Given the description of an element on the screen output the (x, y) to click on. 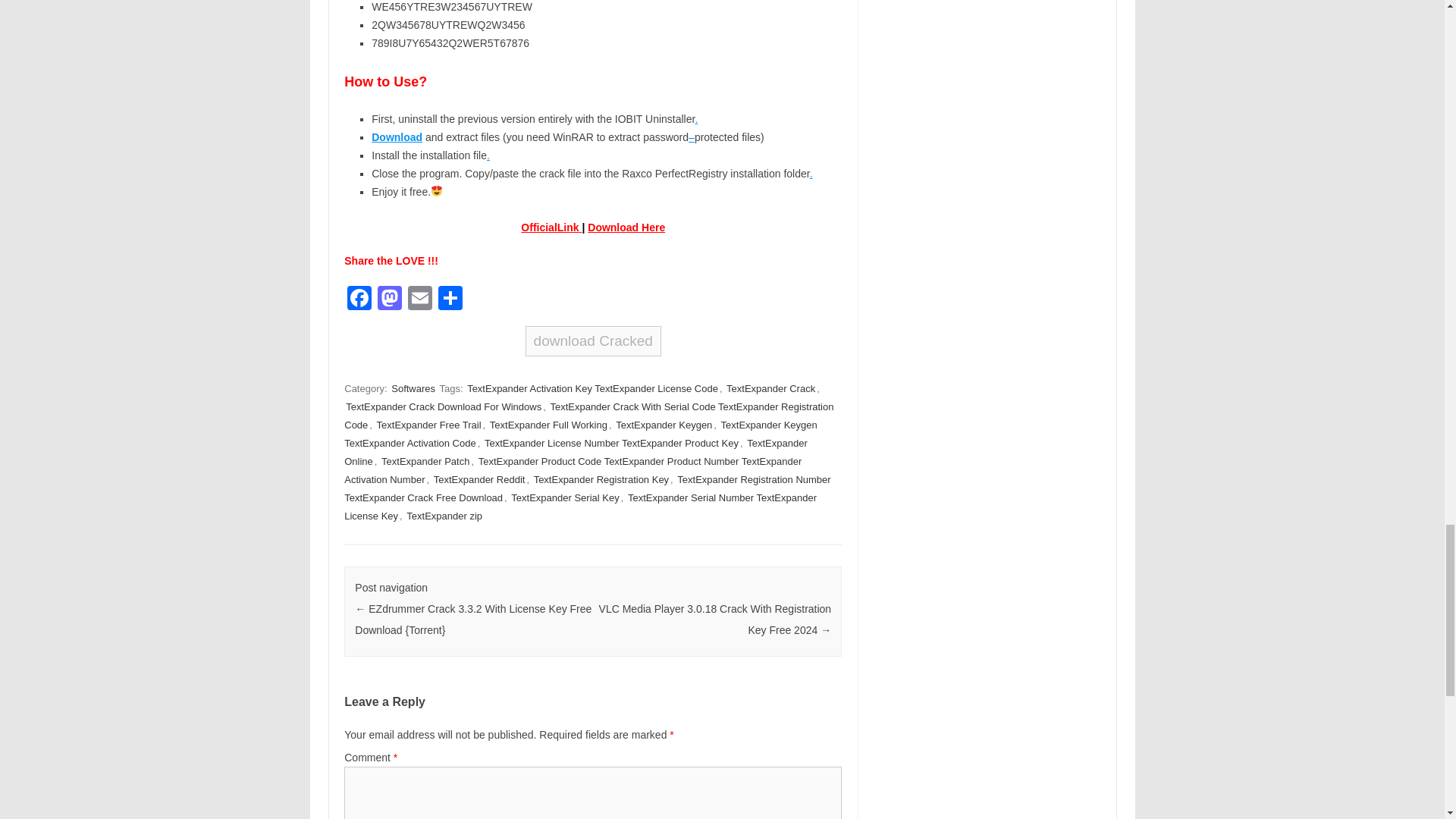
Download (396, 137)
Here (653, 227)
Mastodon (389, 299)
Email (419, 299)
Facebook (358, 299)
OfficialLink (549, 227)
Download (615, 227)
